Given the description of an element on the screen output the (x, y) to click on. 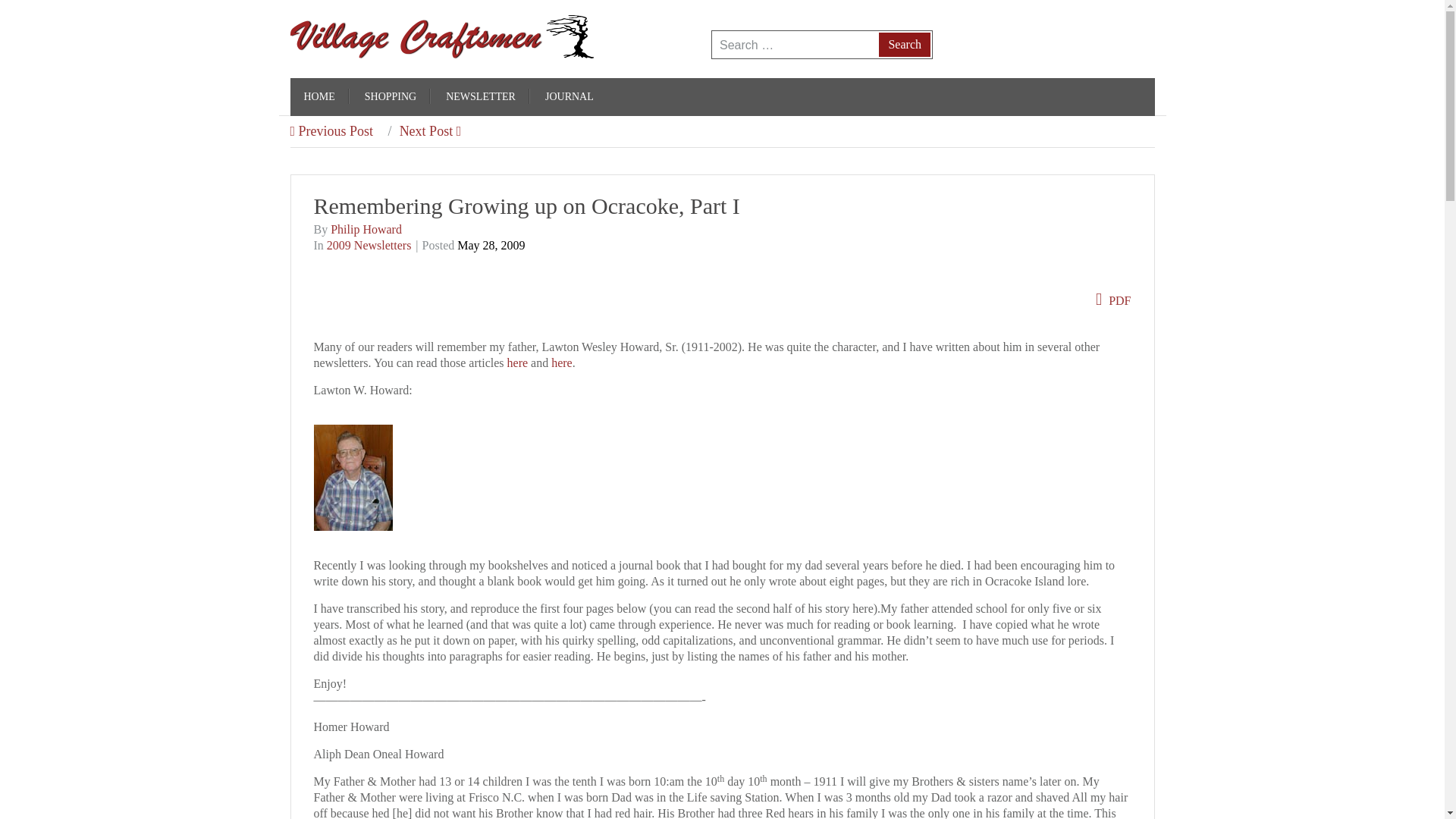
View all posts by Philip Howard (365, 228)
PDF (1113, 299)
Previous Post (330, 130)
here (561, 362)
Next Post (419, 130)
Search (904, 44)
NEWSLETTER (480, 96)
HOME (318, 96)
JOURNAL (569, 96)
